Given the description of an element on the screen output the (x, y) to click on. 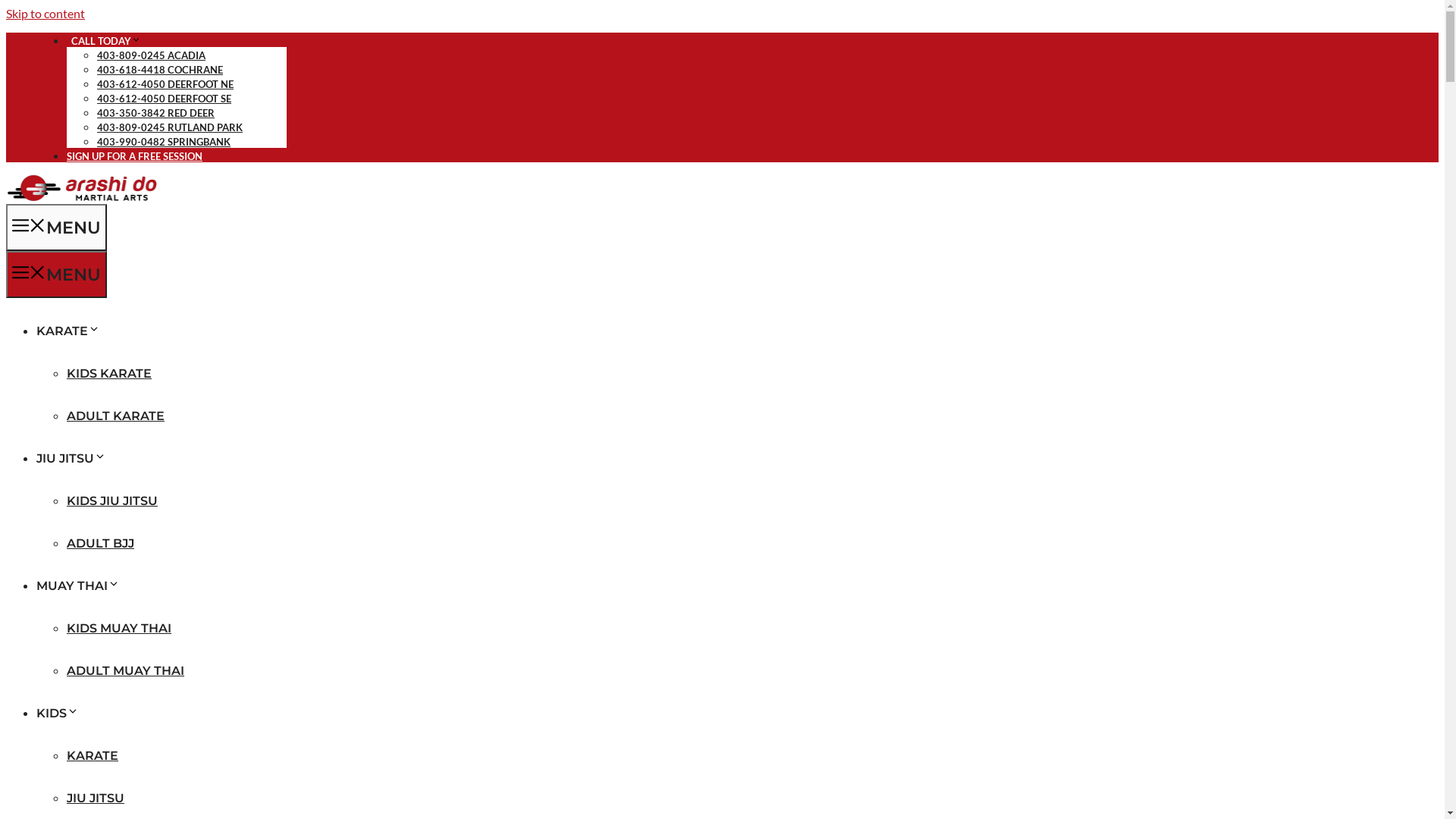
  CALL TODAY Element type: text (103, 40)
JIU JITSU Element type: text (95, 797)
403-809-0245 RUTLAND PARK Element type: text (169, 127)
KIDS JIU JITSU Element type: text (111, 500)
403-809-0245 ACADIA Element type: text (151, 55)
MENU Element type: text (56, 274)
MENU Element type: text (56, 227)
KARATE Element type: text (68, 330)
SIGN UP FOR A FREE SESSION Element type: text (134, 156)
403-612-4050 DEERFOOT SE Element type: text (164, 98)
KIDS Element type: text (57, 713)
ADULT KARATE Element type: text (115, 415)
403-990-0482 SPRINGBANK Element type: text (163, 141)
Skip to content Element type: text (45, 13)
JIU JITSU Element type: text (71, 458)
403-612-4050 DEERFOOT NE Element type: text (165, 84)
KARATE Element type: text (92, 755)
MUAY THAI Element type: text (77, 585)
KIDS KARATE Element type: text (108, 373)
ADULT MUAY THAI Element type: text (125, 670)
403-350-3842 RED DEER Element type: text (155, 112)
ADULT BJJ Element type: text (100, 543)
KIDS MUAY THAI Element type: text (118, 628)
403-618-4418 COCHRANE Element type: text (159, 69)
